Given the description of an element on the screen output the (x, y) to click on. 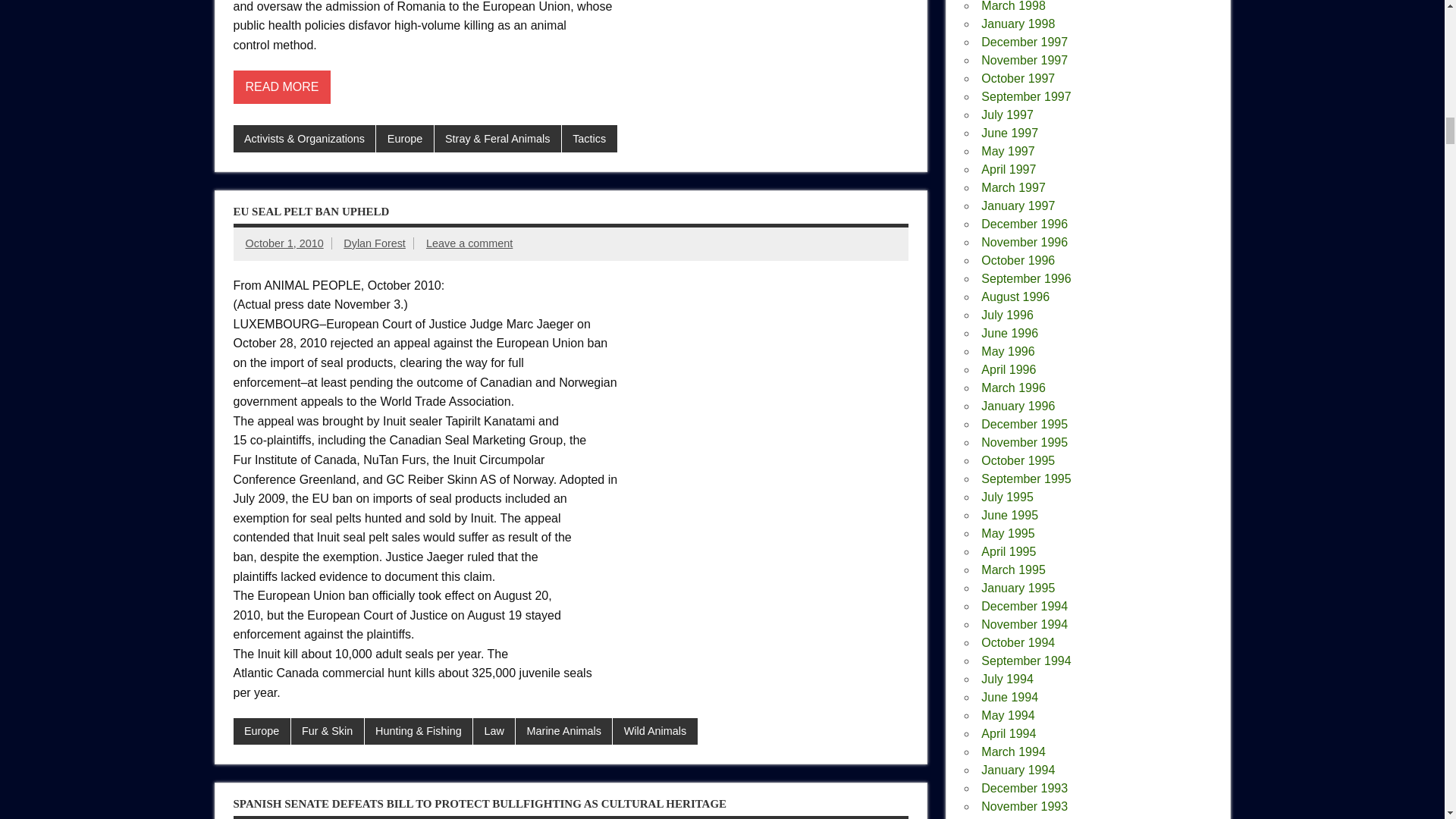
11:12 pm (284, 243)
View all posts by Dylan Forest (374, 243)
